Given the description of an element on the screen output the (x, y) to click on. 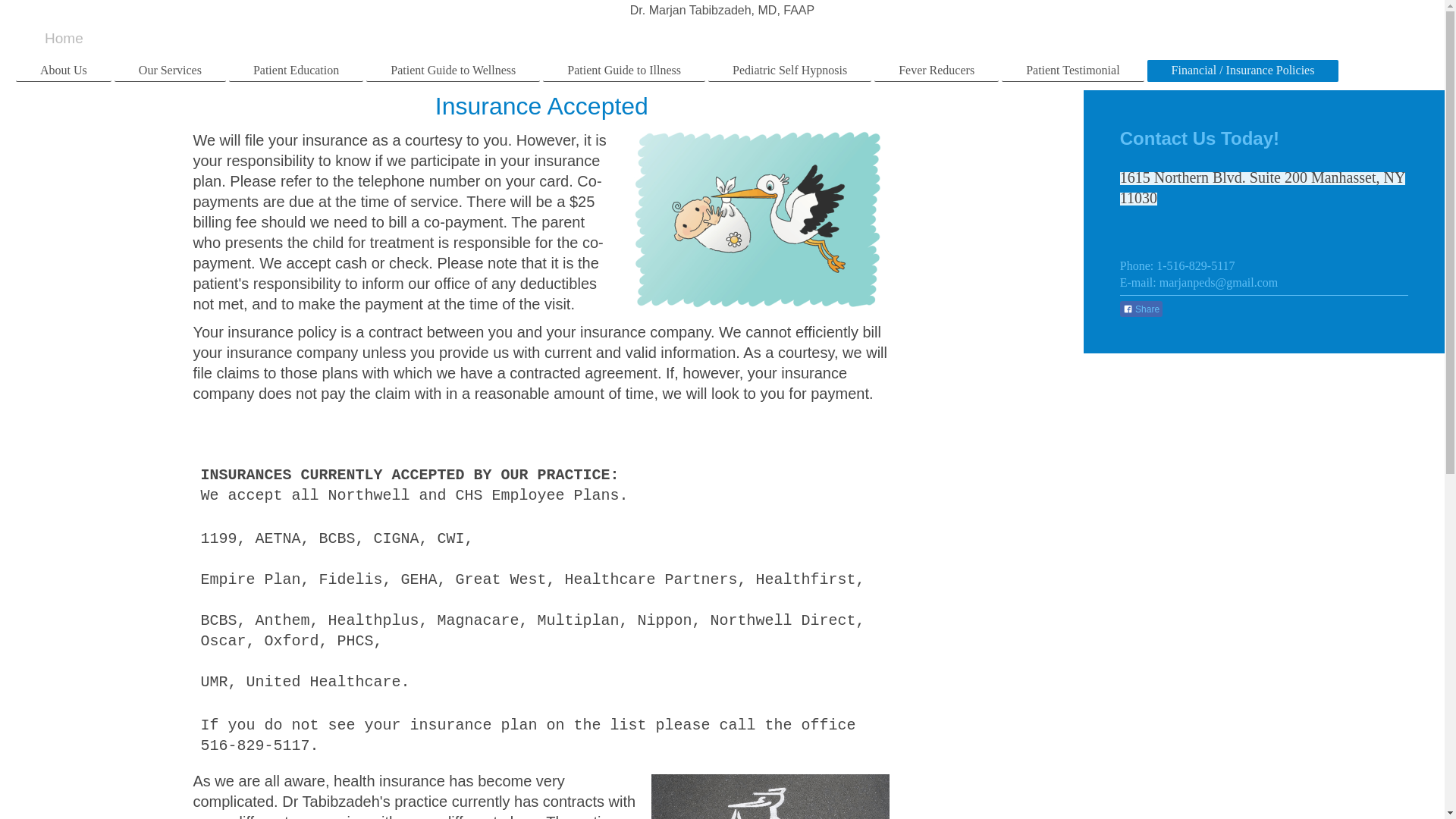
Patient Testimonial (1071, 70)
Our Services (170, 70)
Patient Education (295, 70)
Patient Guide to Illness (623, 70)
Dr. Marjan Tabibzadeh, MD, FAAP (721, 10)
Fever Reducers (936, 70)
Share (1140, 308)
Patient Guide to Wellness (453, 70)
Home (64, 37)
About Us (64, 70)
